Given the description of an element on the screen output the (x, y) to click on. 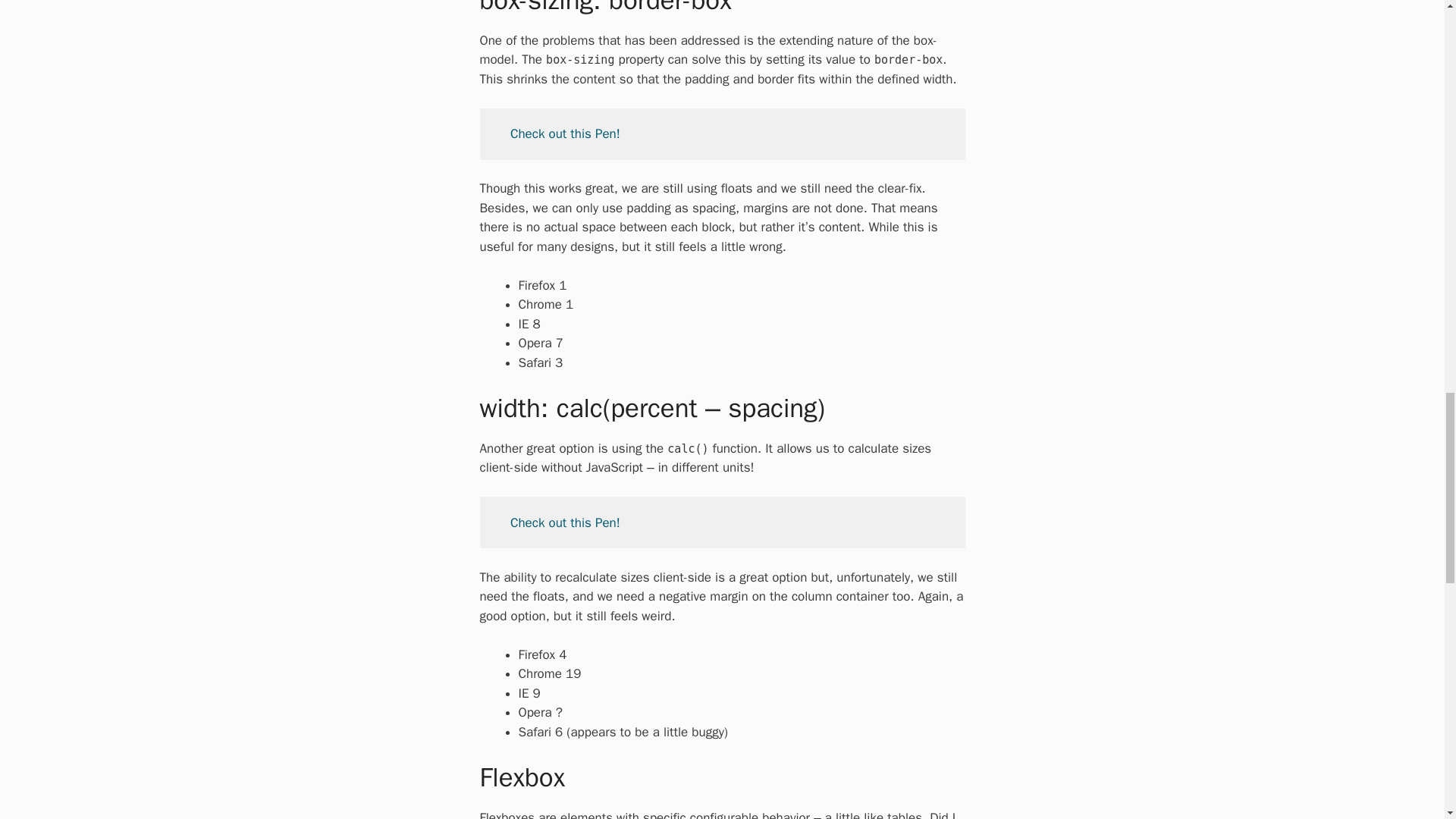
Check out this Pen! (565, 522)
Check out this Pen! (565, 133)
